Given the description of an element on the screen output the (x, y) to click on. 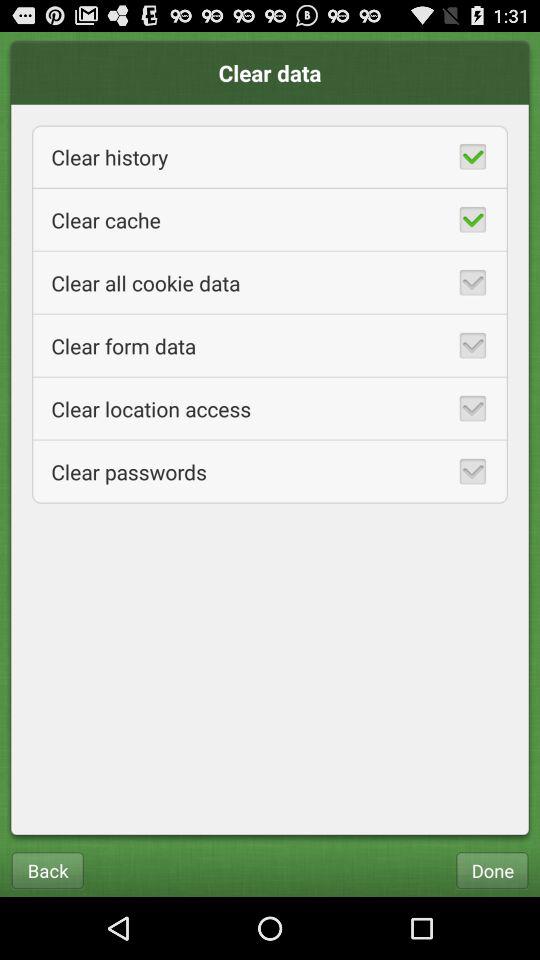
press item below clear history app (269, 219)
